Given the description of an element on the screen output the (x, y) to click on. 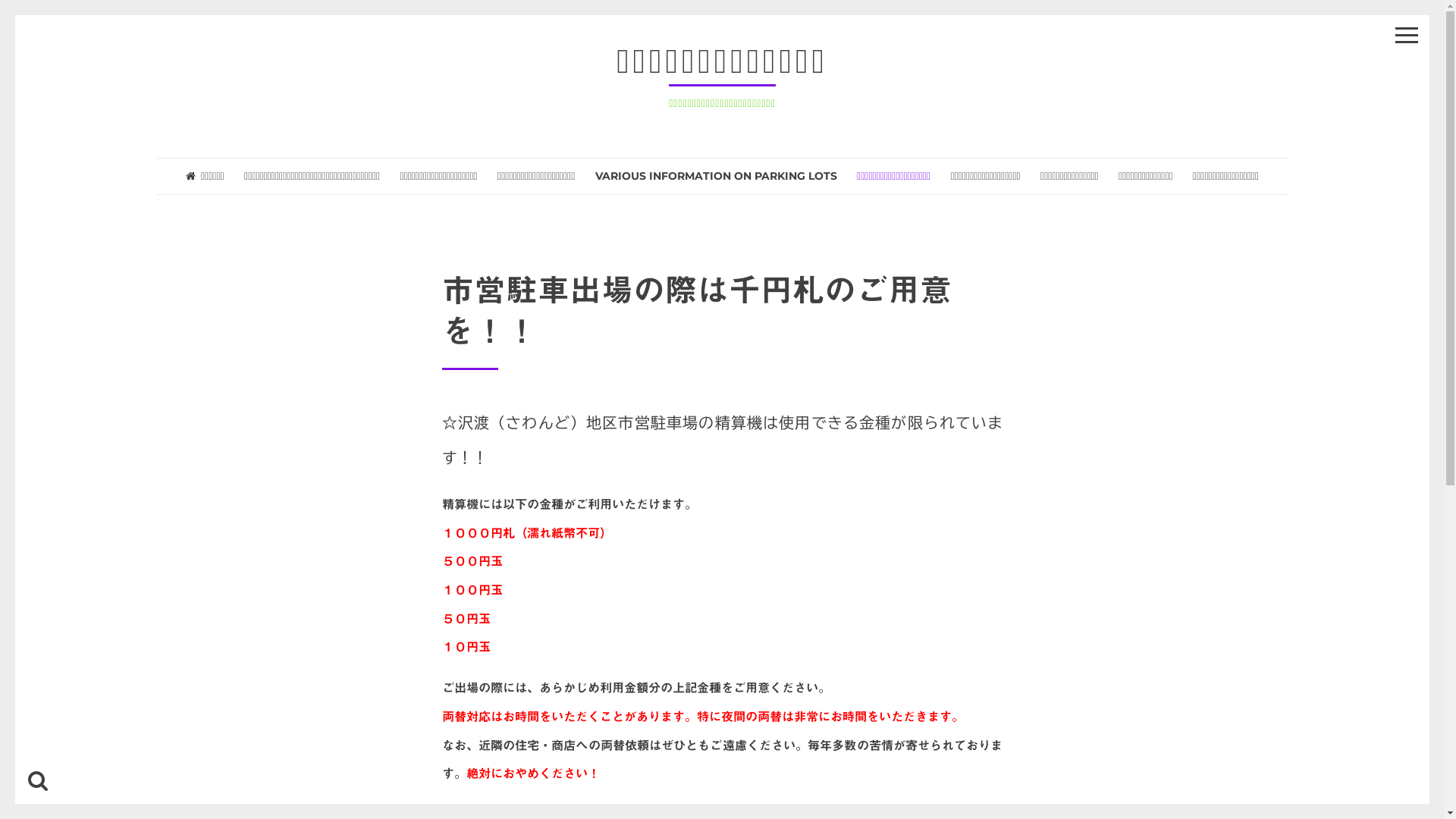
VARIOUS INFORMATION ON PARKING LOTS Element type: text (715, 175)
